Given the description of an element on the screen output the (x, y) to click on. 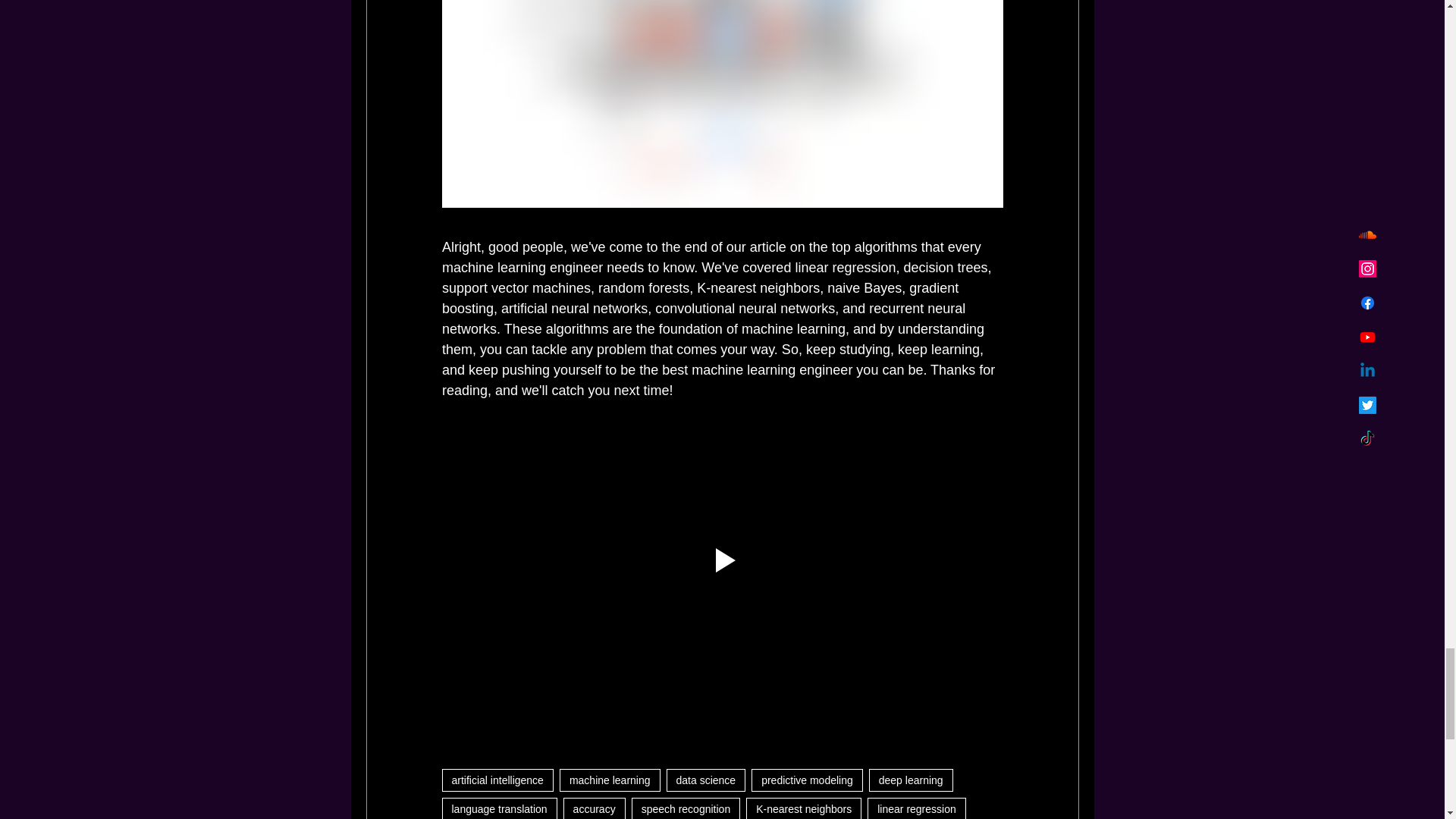
data science (705, 780)
artificial intelligence (497, 780)
machine learning (610, 780)
speech recognition (686, 808)
language translation (498, 808)
accuracy (594, 808)
predictive modeling (807, 780)
deep learning (911, 780)
